Given the description of an element on the screen output the (x, y) to click on. 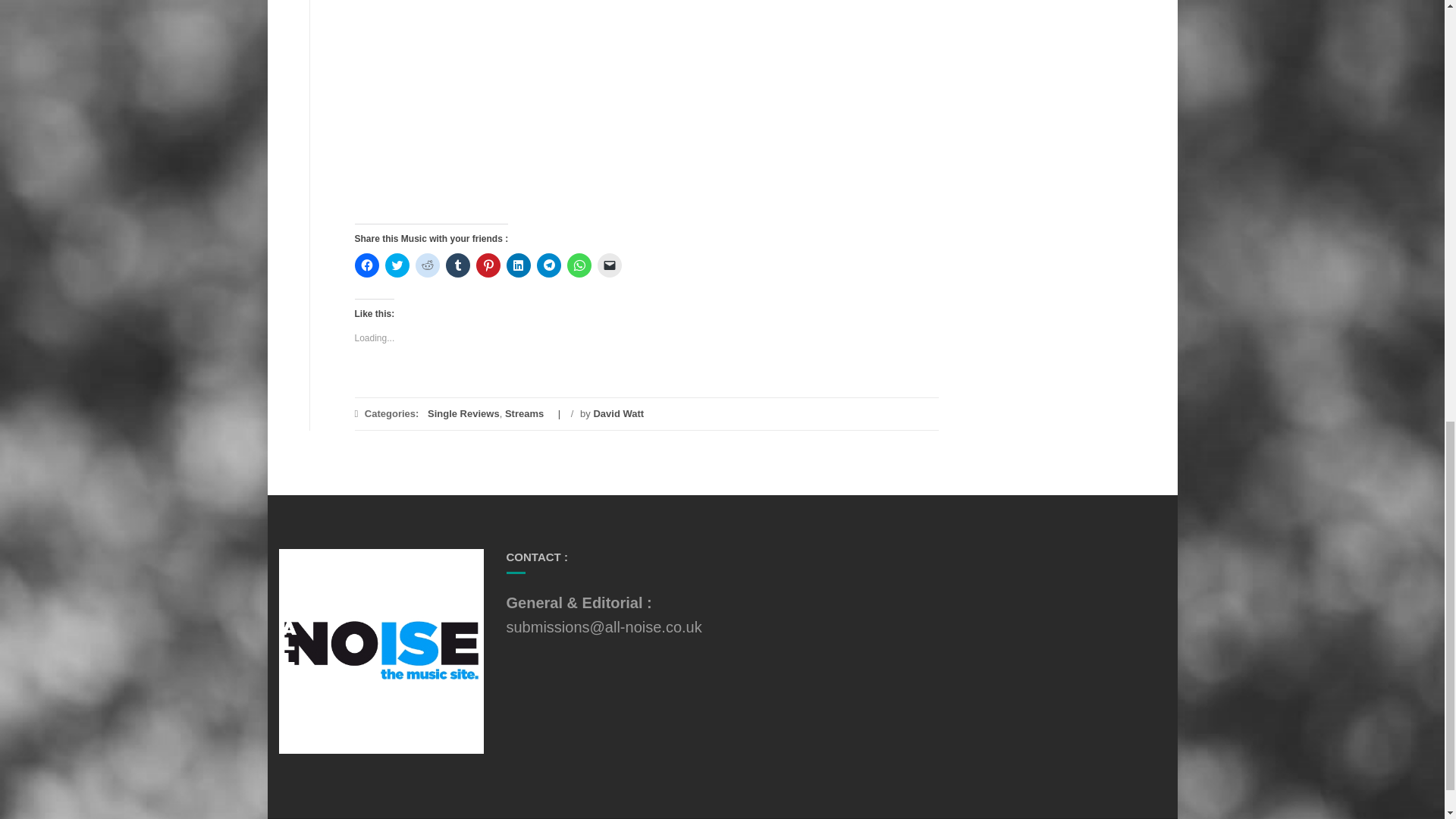
Click to email a link to a friend (608, 265)
Streams (524, 413)
Click to share on Twitter (397, 265)
Click to share on LinkedIn (518, 265)
Click to share on Reddit (426, 265)
Click to share on Telegram (548, 265)
Single Reviews (463, 413)
Click to share on Facebook (366, 265)
Click to share on Tumblr (457, 265)
David Watt (617, 413)
Click to share on Pinterest (488, 265)
Click to share on WhatsApp (579, 265)
